Given the description of an element on the screen output the (x, y) to click on. 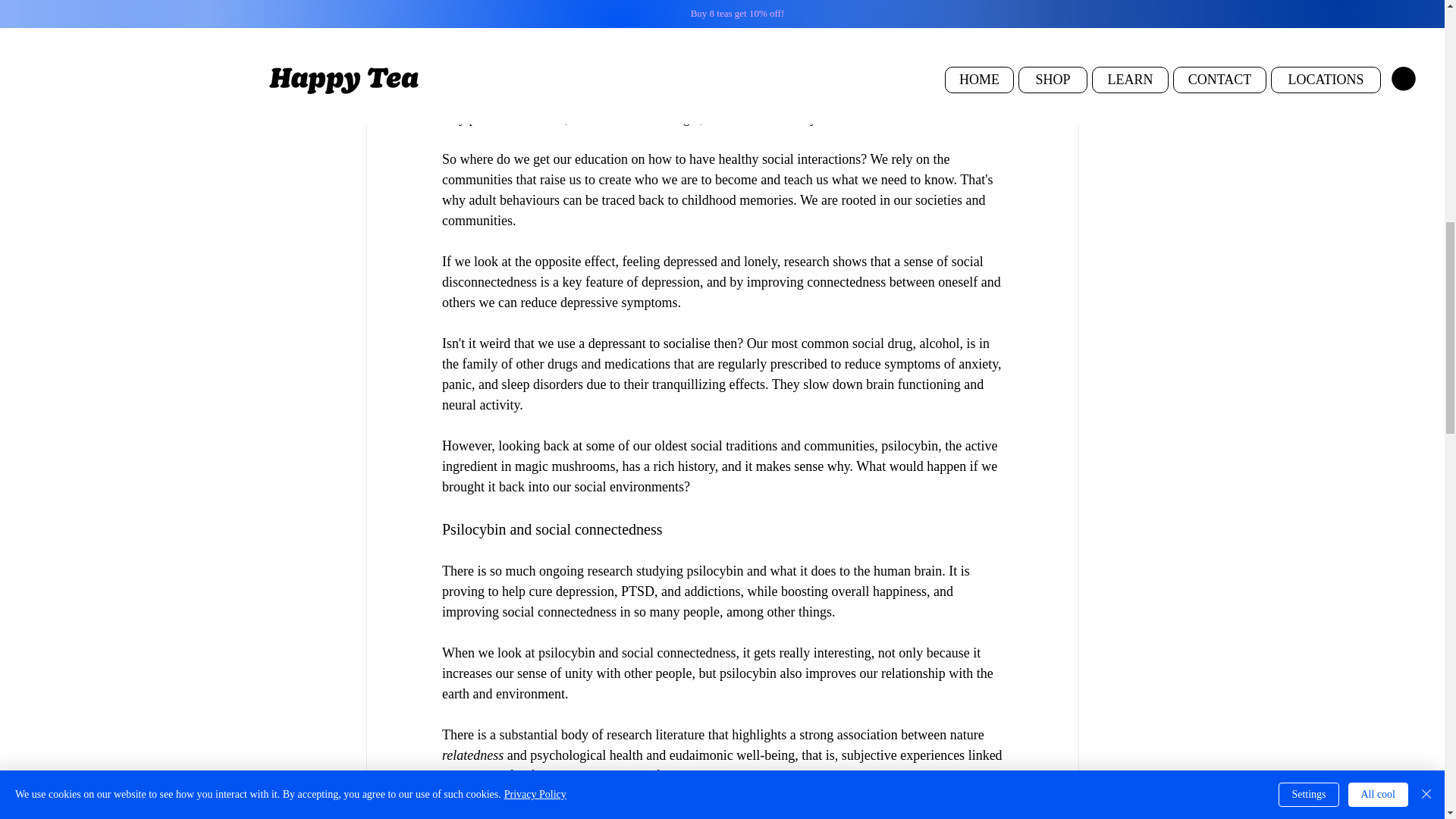
reference (590, 814)
Harvard studied it for 80 years (640, 77)
Robert Waldinger (650, 118)
